Given the description of an element on the screen output the (x, y) to click on. 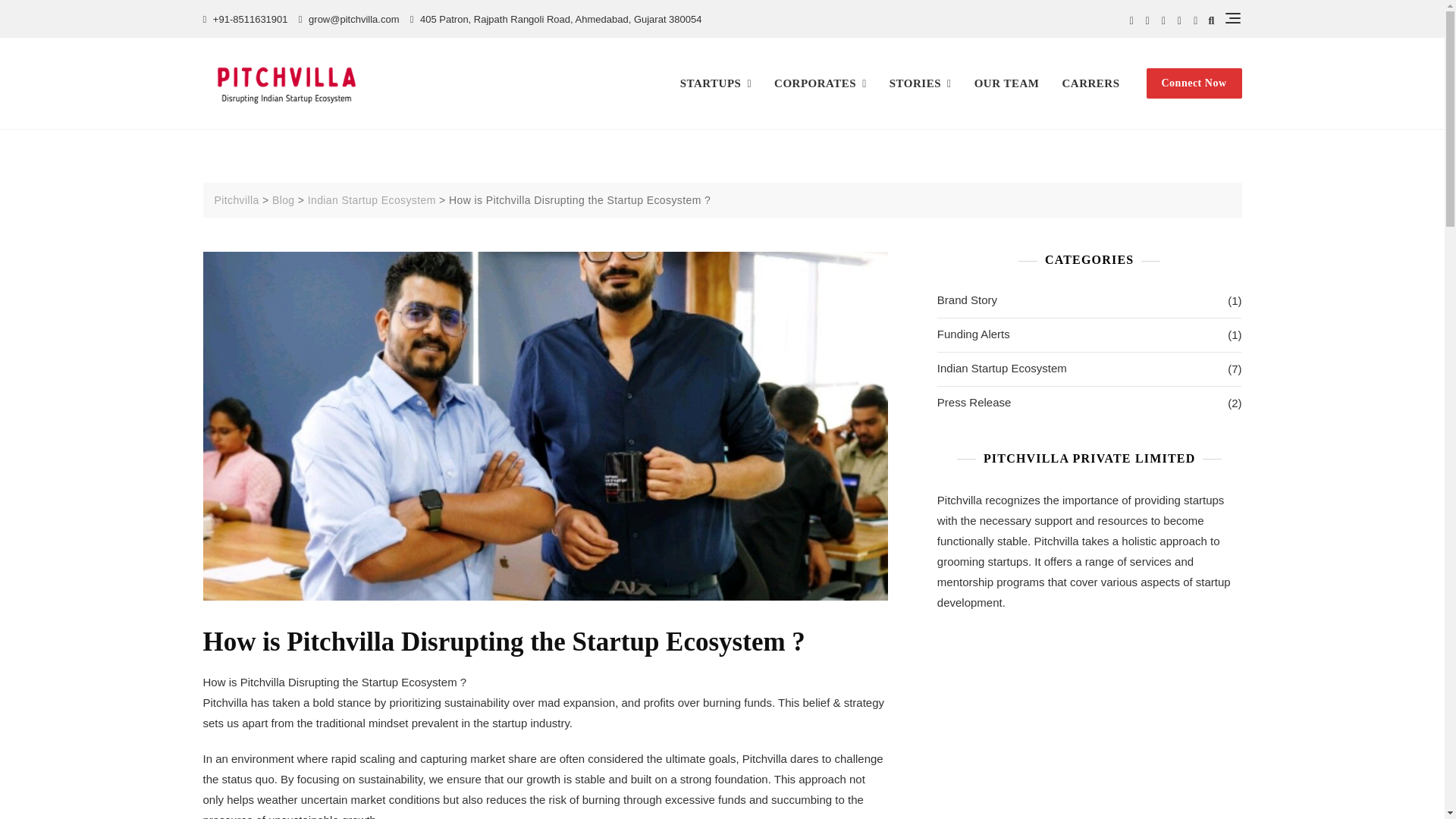
Go to Pitchvilla . (238, 200)
Go to the Indian Startup Ecosystem Category archives. (371, 200)
CORPORATES (819, 83)
Go to Blog. (283, 200)
STARTUPS (720, 83)
Search (102, 6)
